Given the description of an element on the screen output the (x, y) to click on. 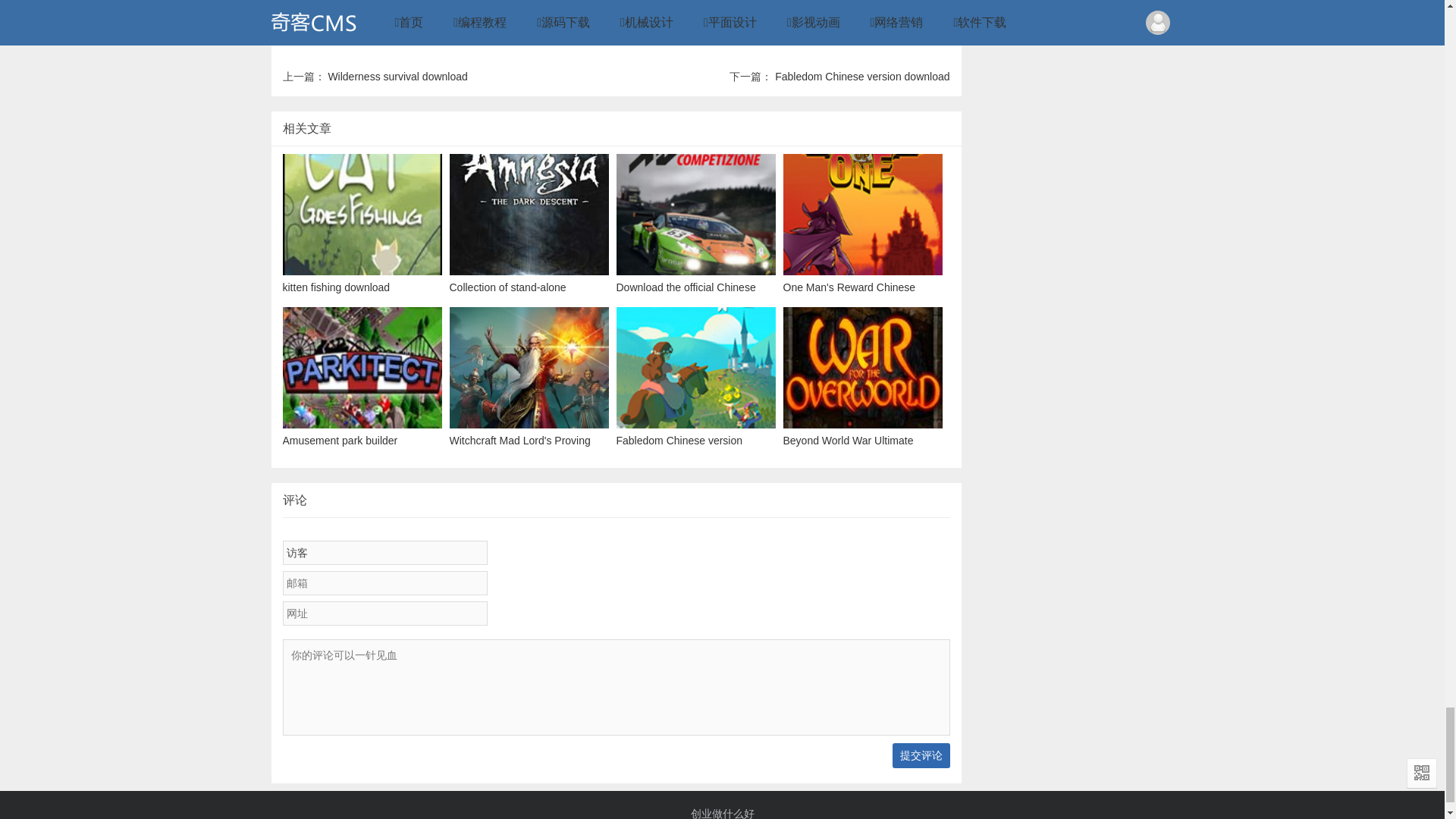
Star Core Factory Chinese version download (563, 3)
Wilderness survival download (397, 76)
Fabledom Chinese version download (861, 76)
